Given the description of an element on the screen output the (x, y) to click on. 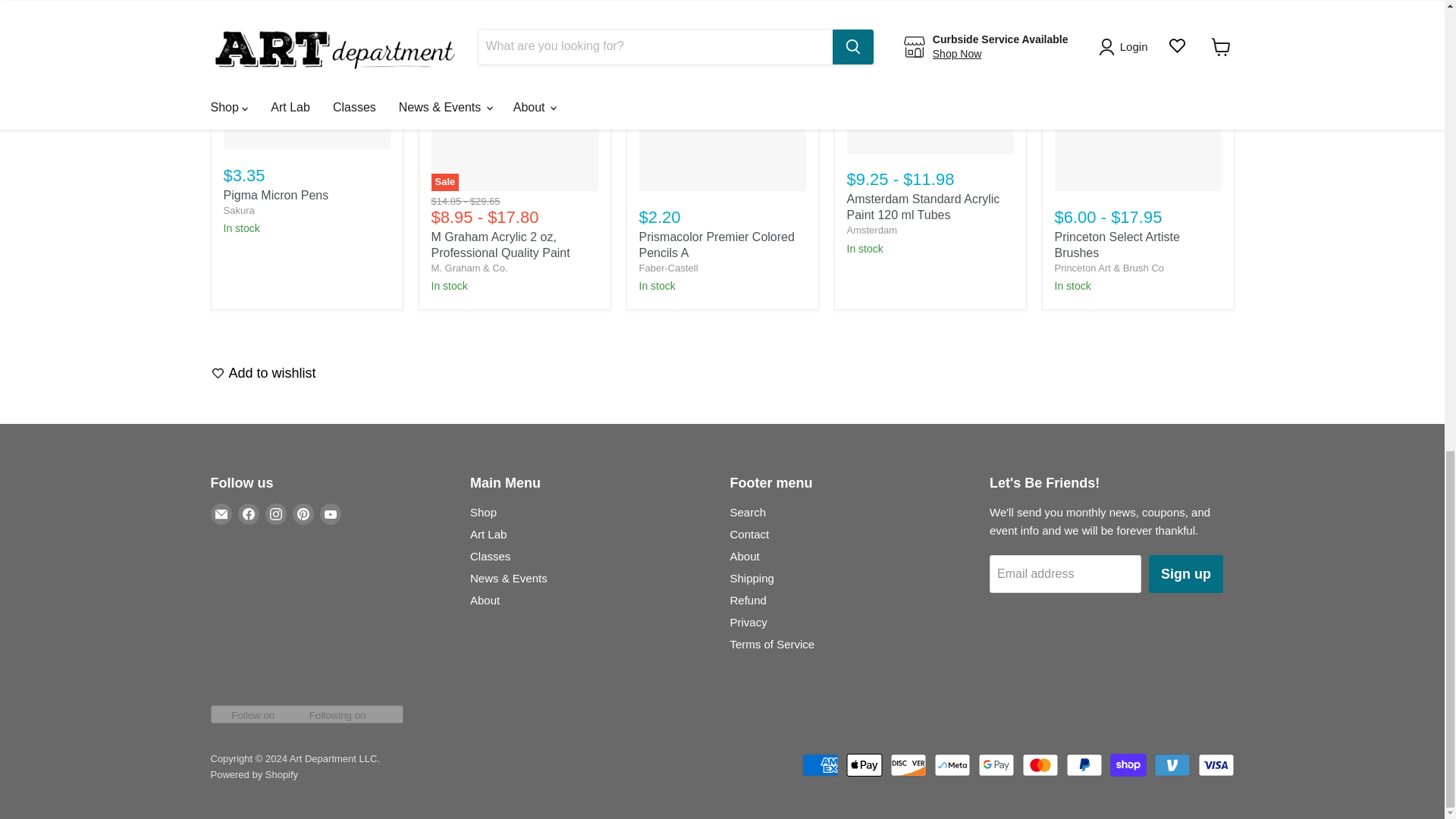
Instagram (275, 513)
Email (221, 513)
Amsterdam (870, 229)
Faber-Castell (668, 267)
Pinterest (303, 513)
Sakura (237, 210)
Facebook (248, 513)
YouTube (330, 513)
